Given the description of an element on the screen output the (x, y) to click on. 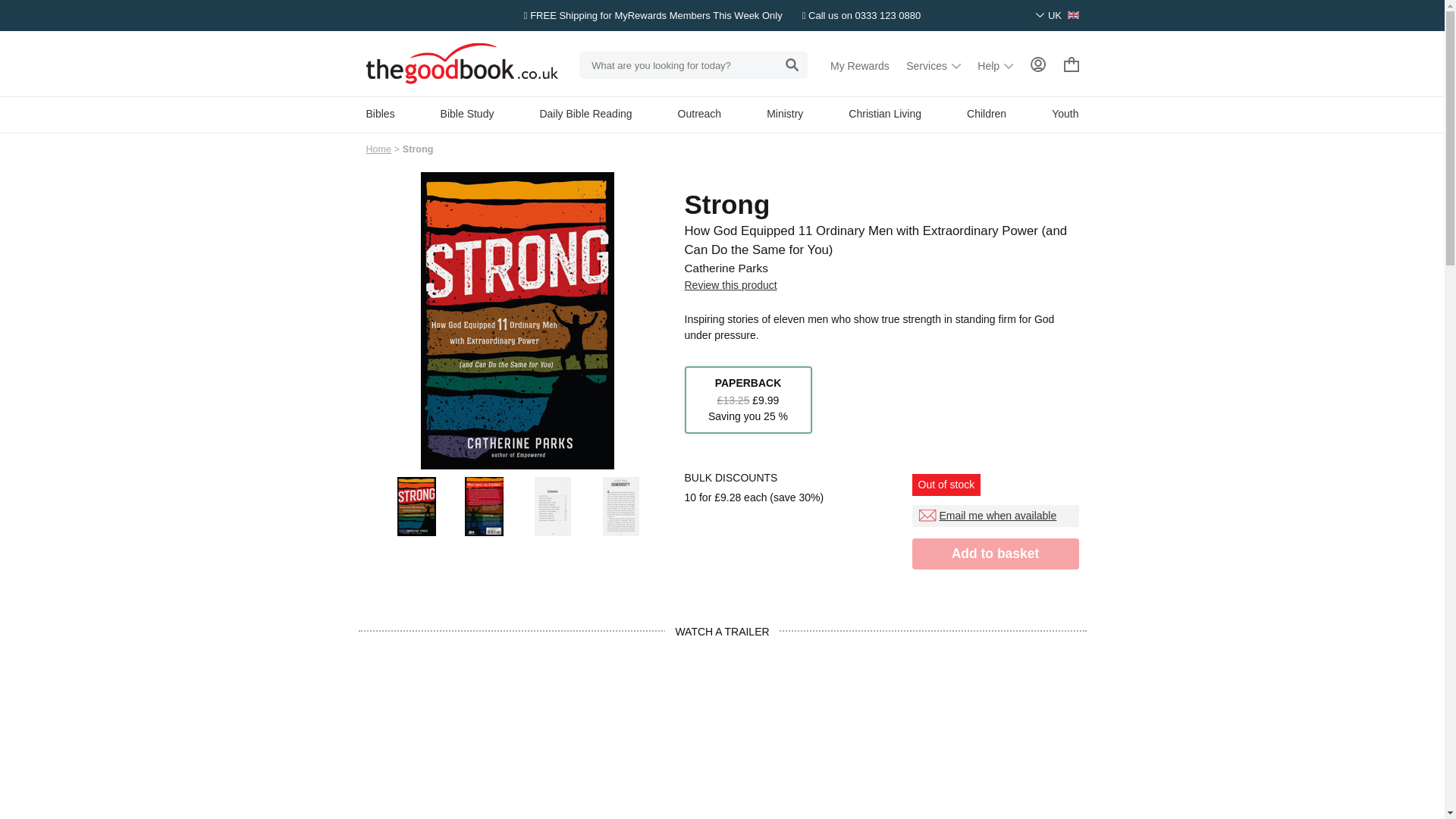
Sign in (1037, 64)
Help (994, 65)
Bibles (379, 113)
UK (1056, 14)
My Rewards (859, 65)
Services (932, 65)
Go to Home Page (378, 149)
